Given the description of an element on the screen output the (x, y) to click on. 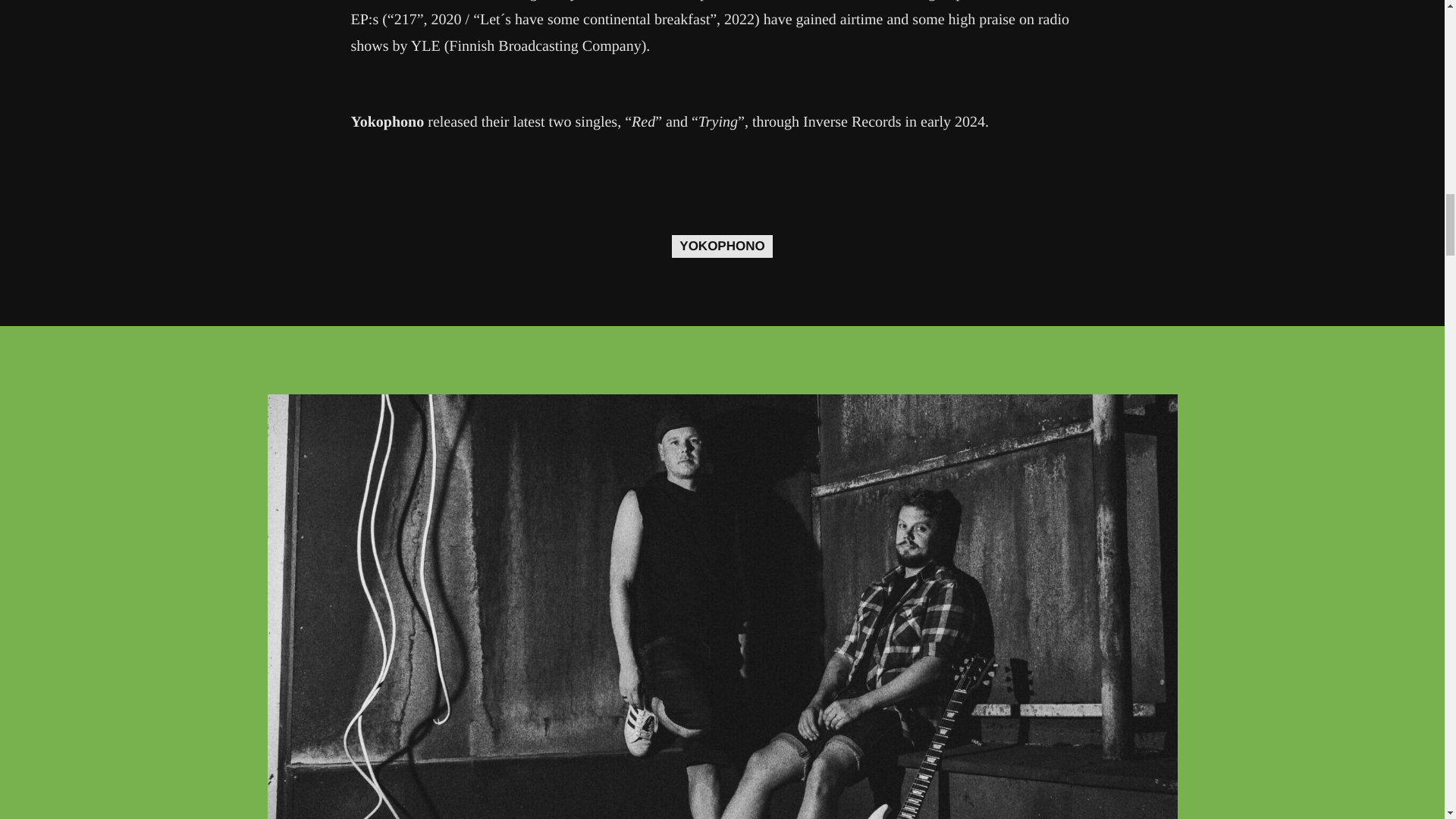
YOKOPHONO (721, 246)
